Given the description of an element on the screen output the (x, y) to click on. 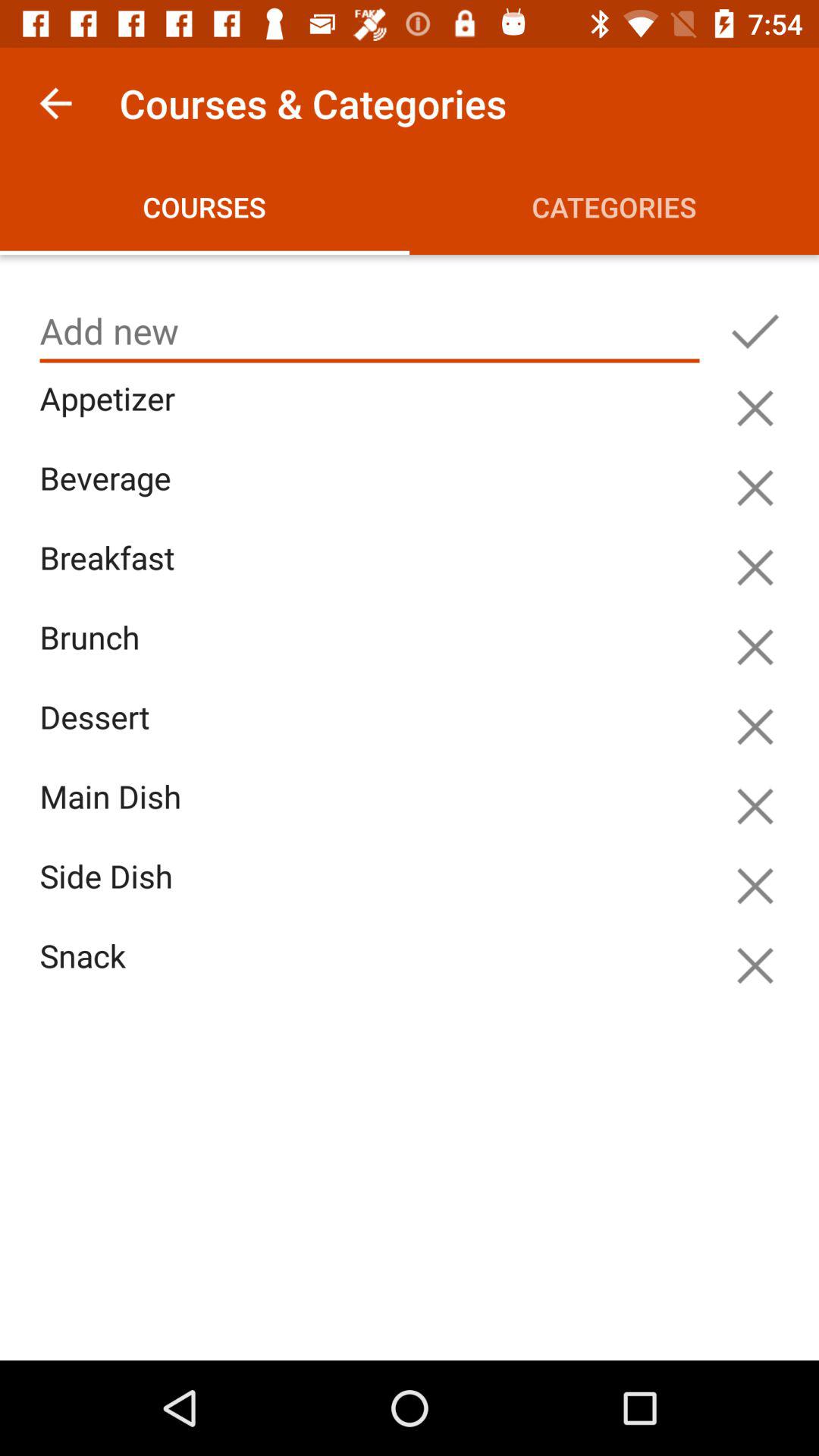
choose the item above dessert (373, 655)
